Given the description of an element on the screen output the (x, y) to click on. 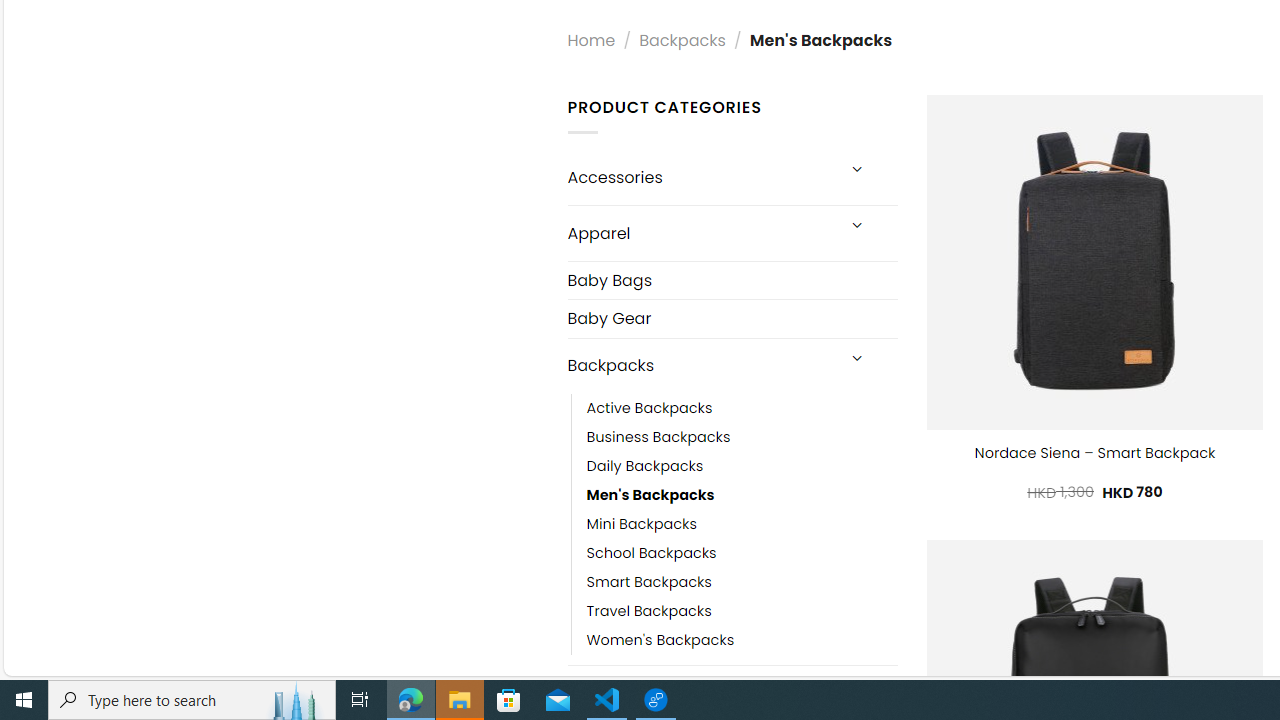
Business Backpacks (658, 436)
Women's Backpacks (742, 639)
Baby Gear (732, 317)
Men's Backpacks (650, 494)
Mini Backpacks (641, 524)
Business Backpacks (742, 436)
School Backpacks (742, 552)
Smart Backpacks (648, 581)
Mini Backpacks (742, 524)
Bags (700, 692)
Daily Backpacks (742, 465)
Smart Backpacks (742, 581)
Backpacks (700, 366)
Active Backpacks (649, 408)
